Given the description of an element on the screen output the (x, y) to click on. 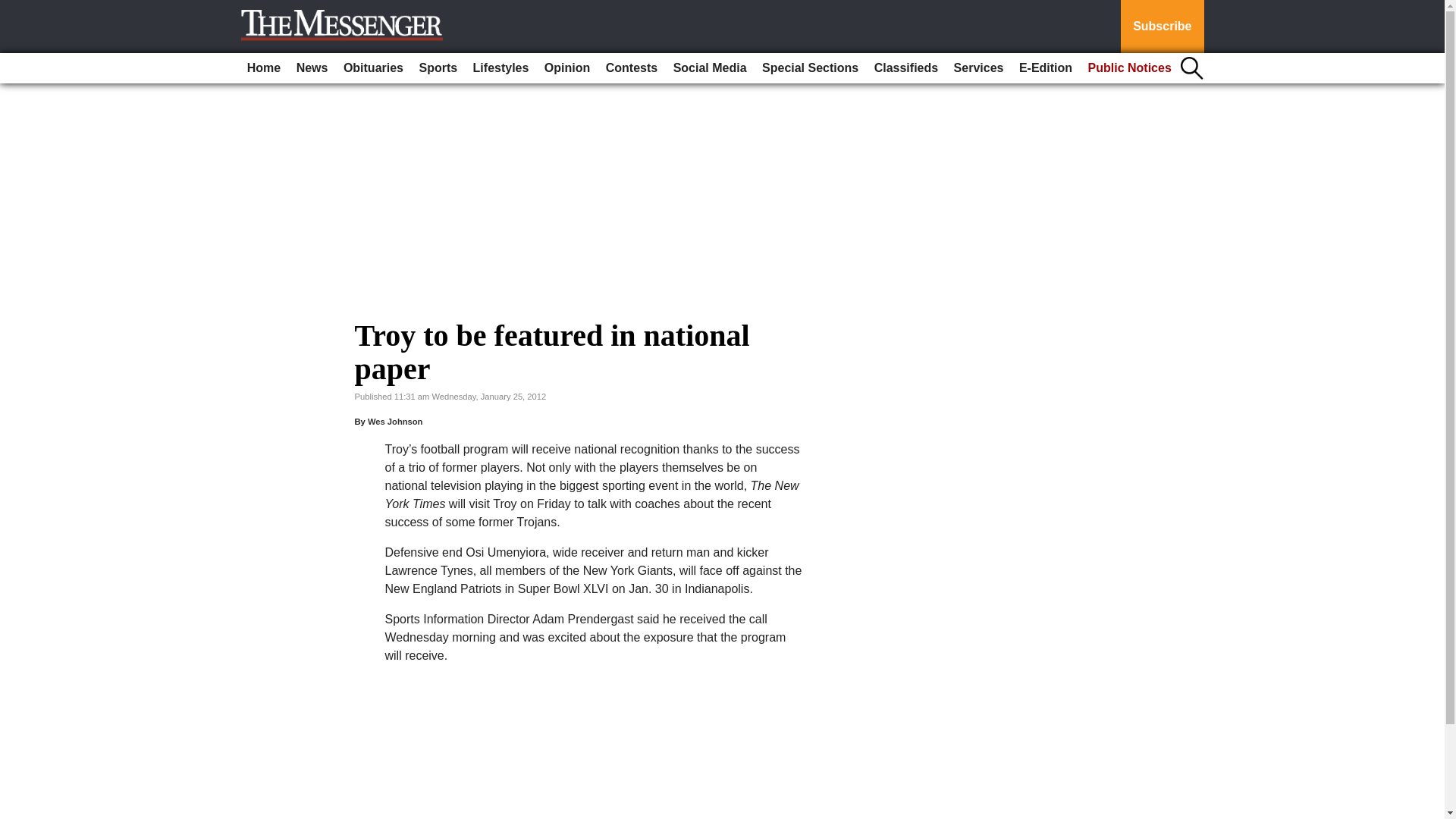
Obituaries (373, 68)
Opinion (566, 68)
Social Media (709, 68)
Sports (437, 68)
Home (263, 68)
Lifestyles (501, 68)
News (311, 68)
Subscribe (1162, 26)
Contests (631, 68)
E-Edition (1045, 68)
Special Sections (809, 68)
Public Notices (1129, 68)
Classifieds (905, 68)
Services (978, 68)
